Given the description of an element on the screen output the (x, y) to click on. 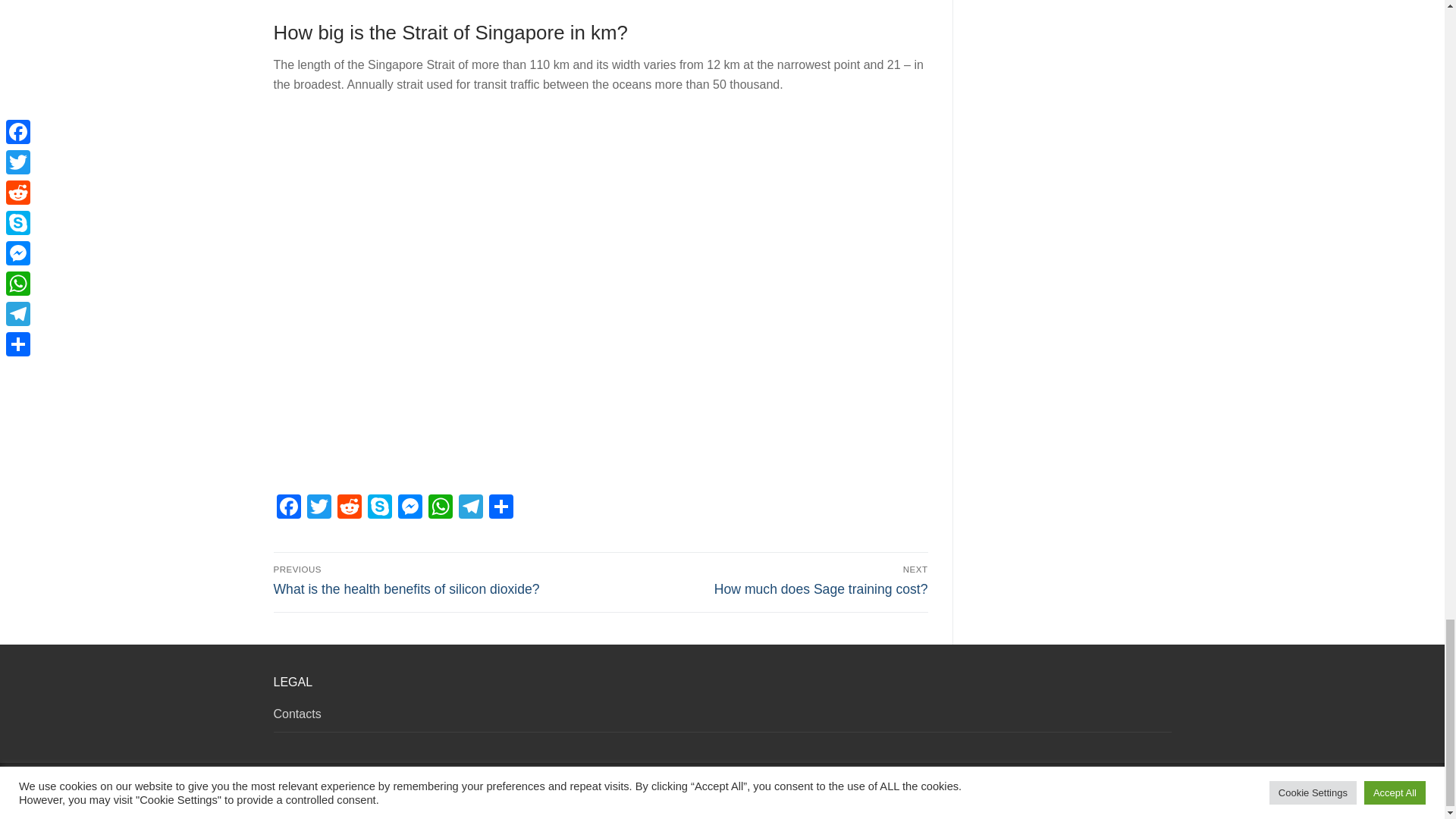
WhatsApp (439, 508)
Reddit (348, 508)
Twitter (317, 508)
Twitter (317, 508)
Skype (379, 508)
Facebook (287, 508)
Facebook (287, 508)
Skype (379, 508)
Messenger (409, 508)
Reddit (348, 508)
Telegram (469, 508)
